Given the description of an element on the screen output the (x, y) to click on. 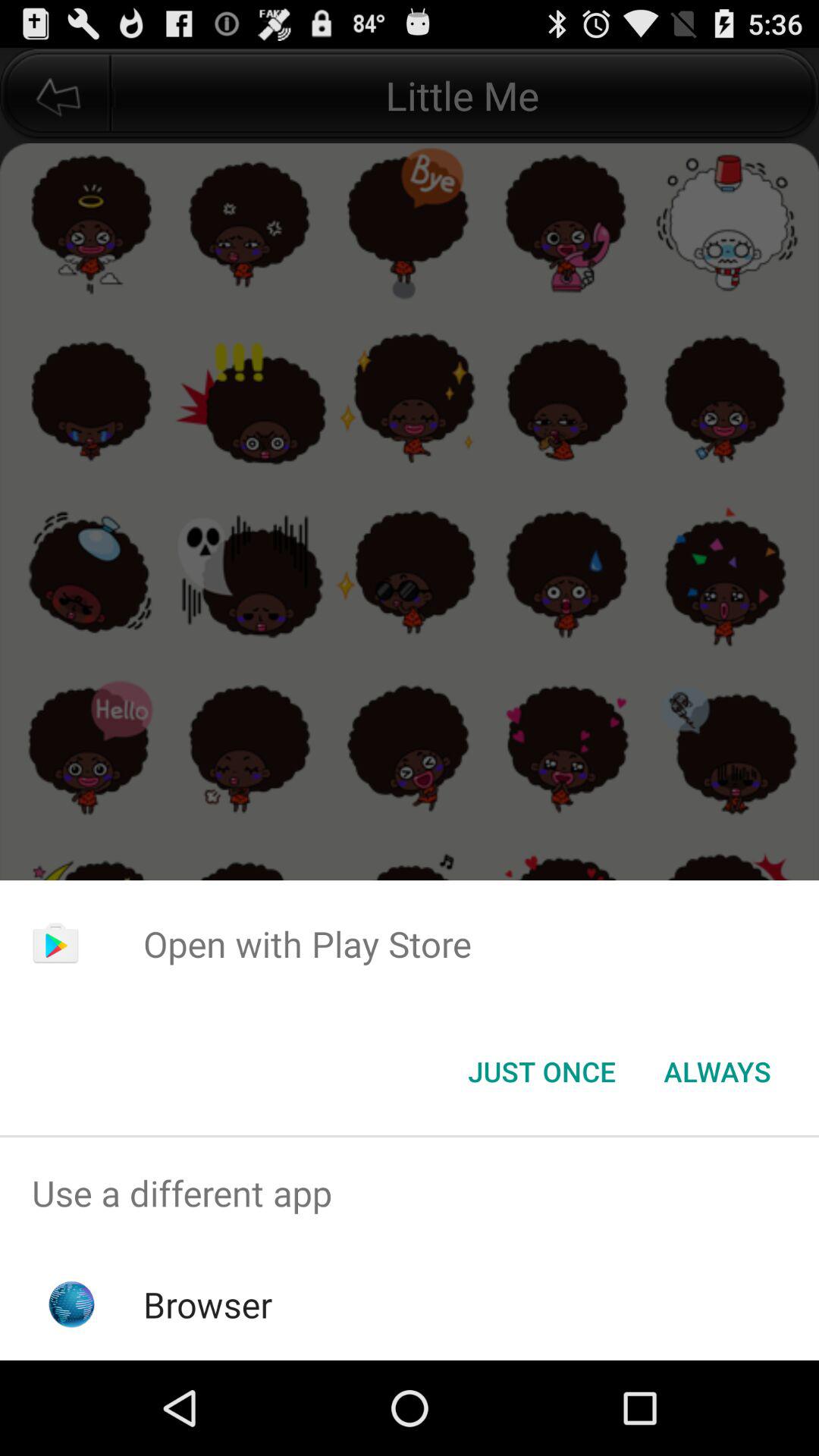
press just once icon (541, 1071)
